Given the description of an element on the screen output the (x, y) to click on. 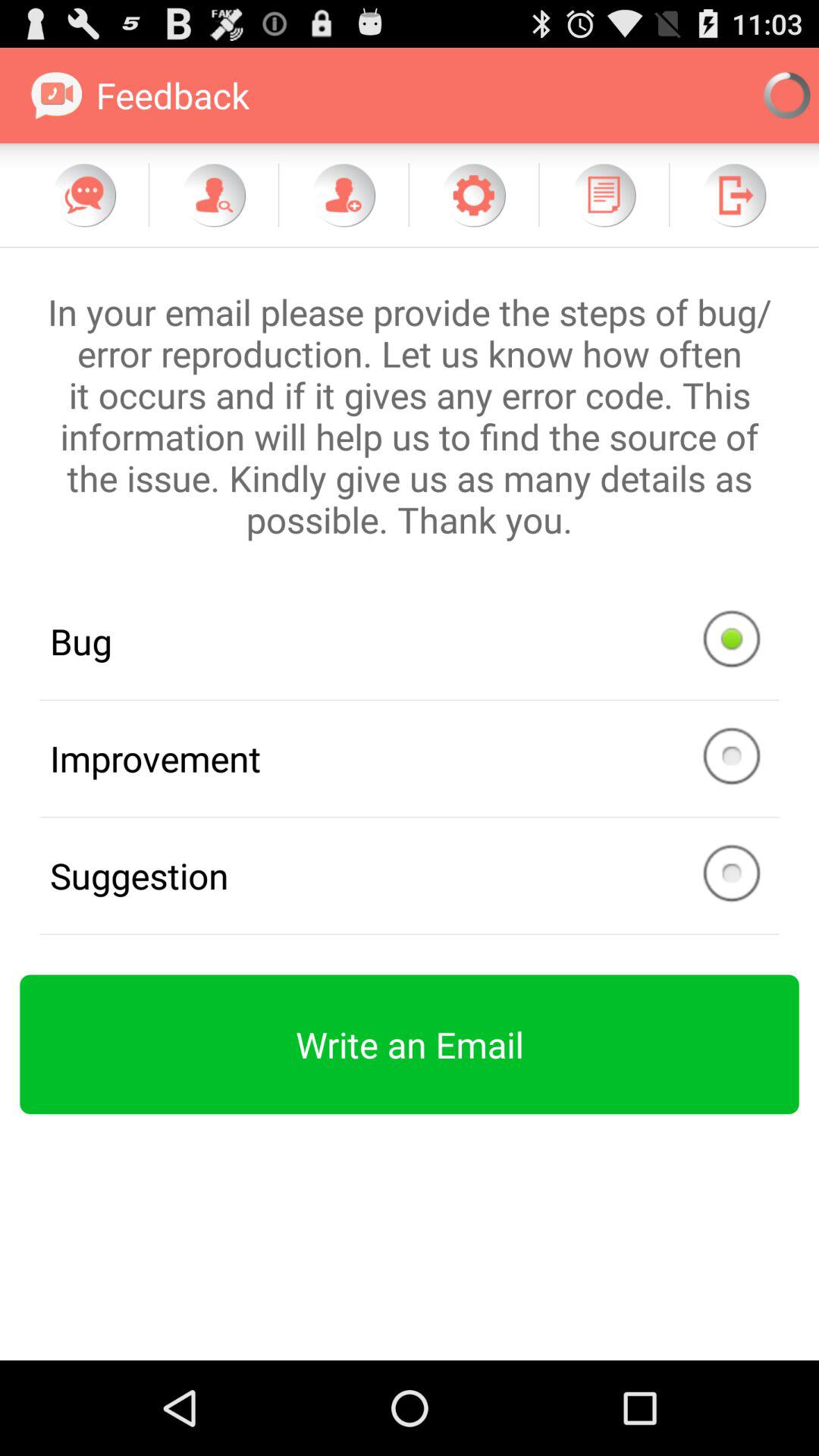
search for a person (213, 194)
